Given the description of an element on the screen output the (x, y) to click on. 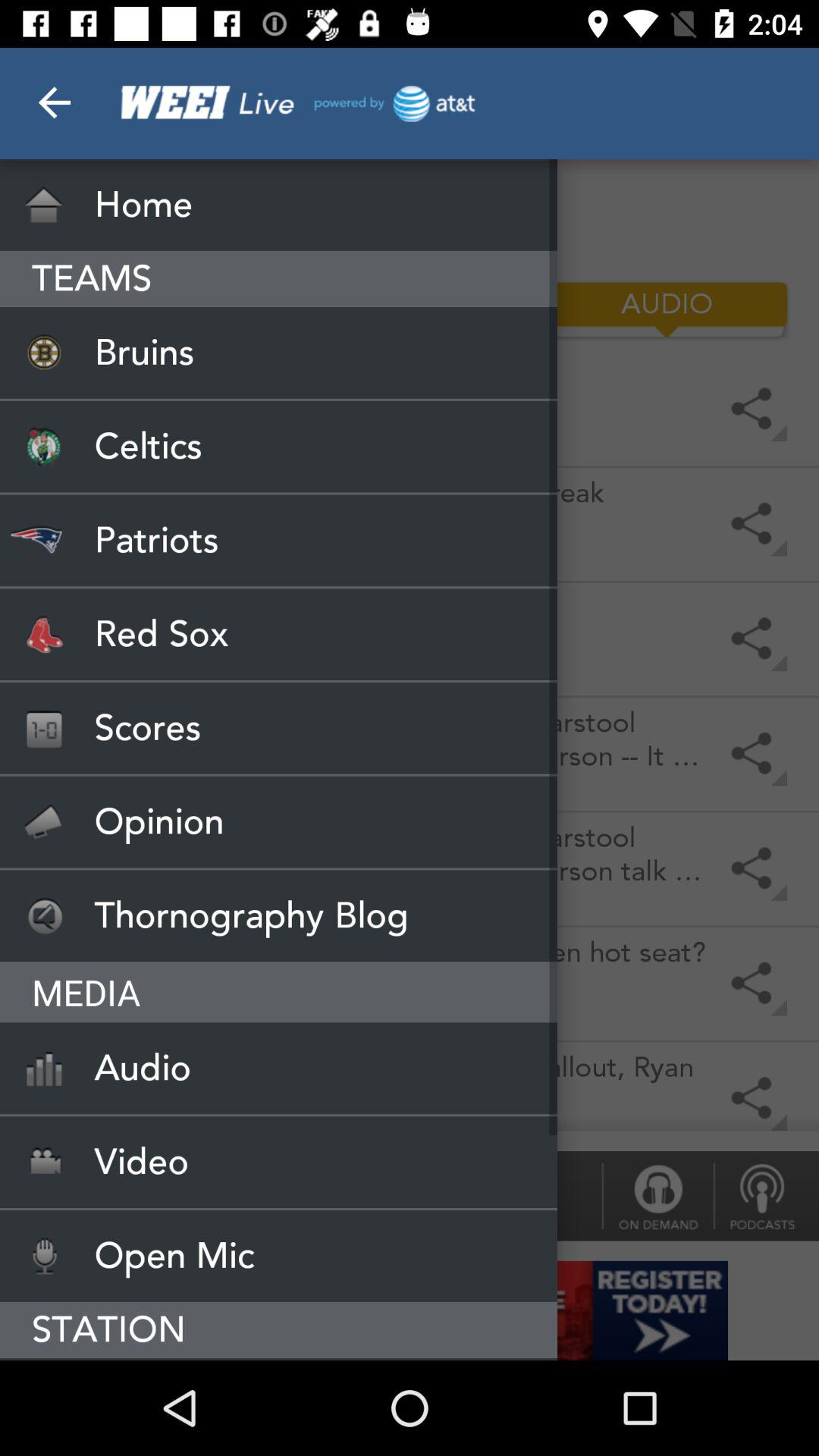
open the video icon (278, 1162)
